Given the description of an element on the screen output the (x, y) to click on. 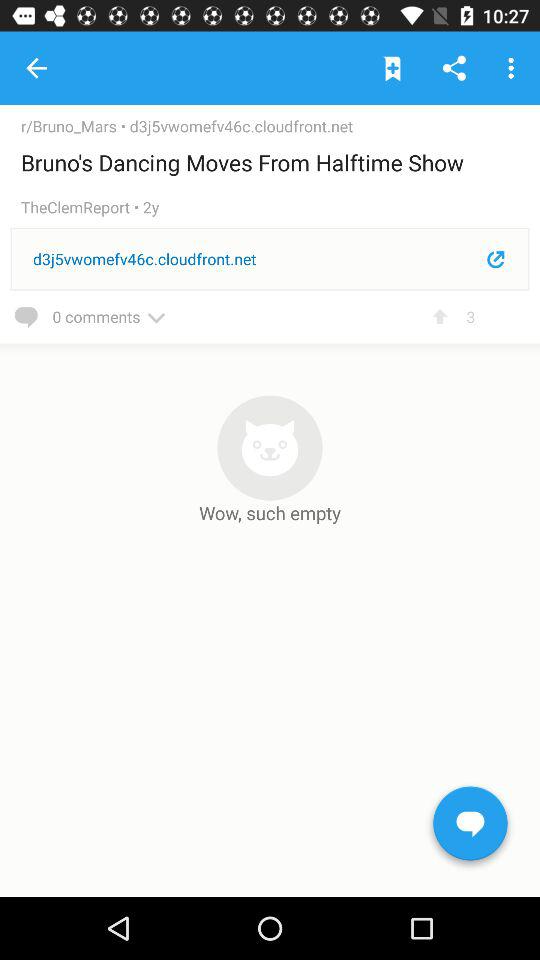
press the item below bruno s dancing item (81, 207)
